Given the description of an element on the screen output the (x, y) to click on. 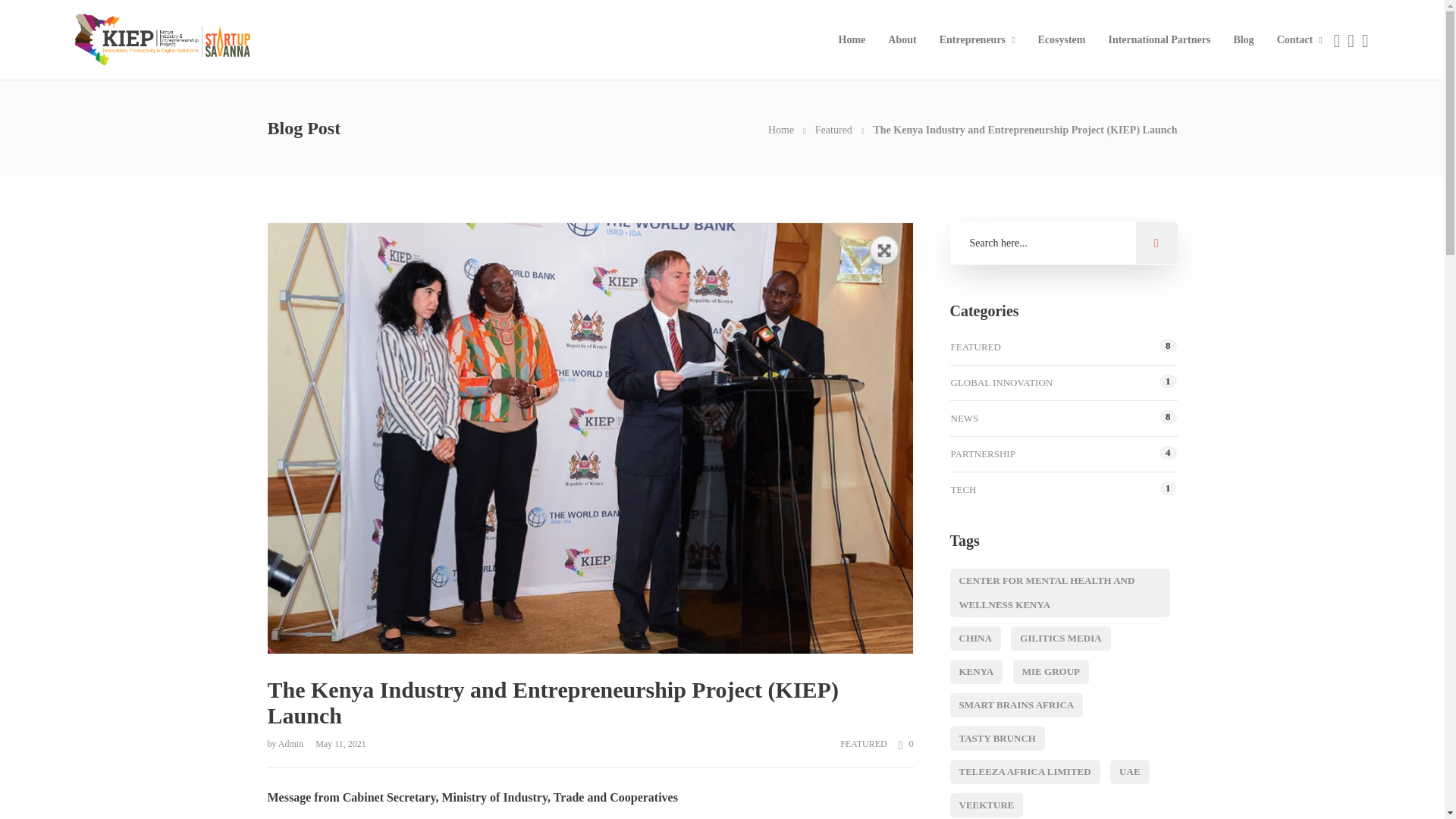
0 (900, 743)
Search text (1062, 242)
Admin (291, 743)
Home (780, 129)
Entrepreneurs (976, 38)
International Partners (1158, 38)
May 11, 2021 (335, 743)
Home (780, 129)
Featured (833, 129)
FEATURED (863, 743)
